Given the description of an element on the screen output the (x, y) to click on. 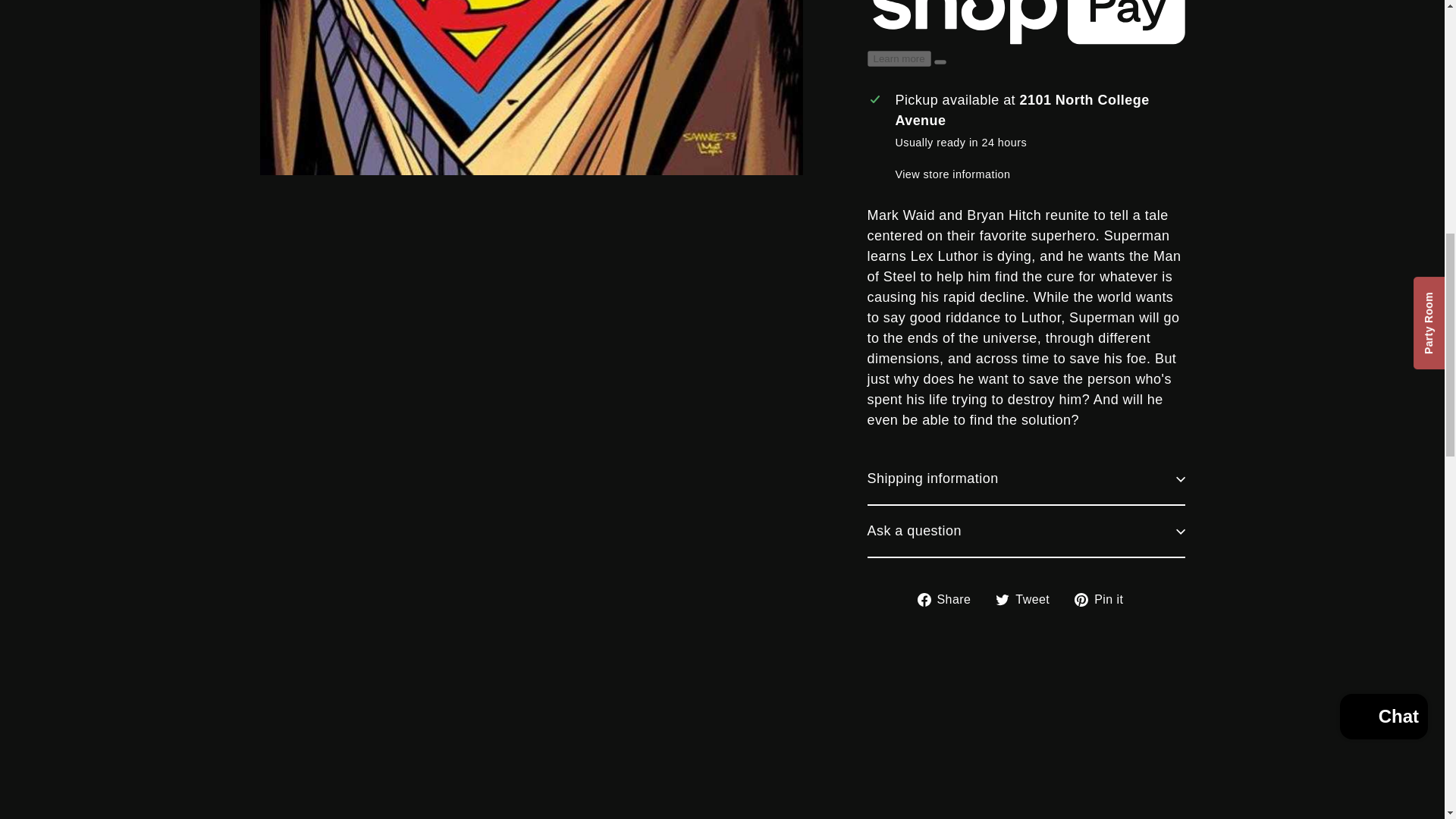
Tweet on Twitter (1028, 599)
Share on Facebook (949, 599)
ICON-HAMBURGER (130, 47)
Pin on Pinterest (1104, 599)
twitter (1002, 599)
